Given the description of an element on the screen output the (x, y) to click on. 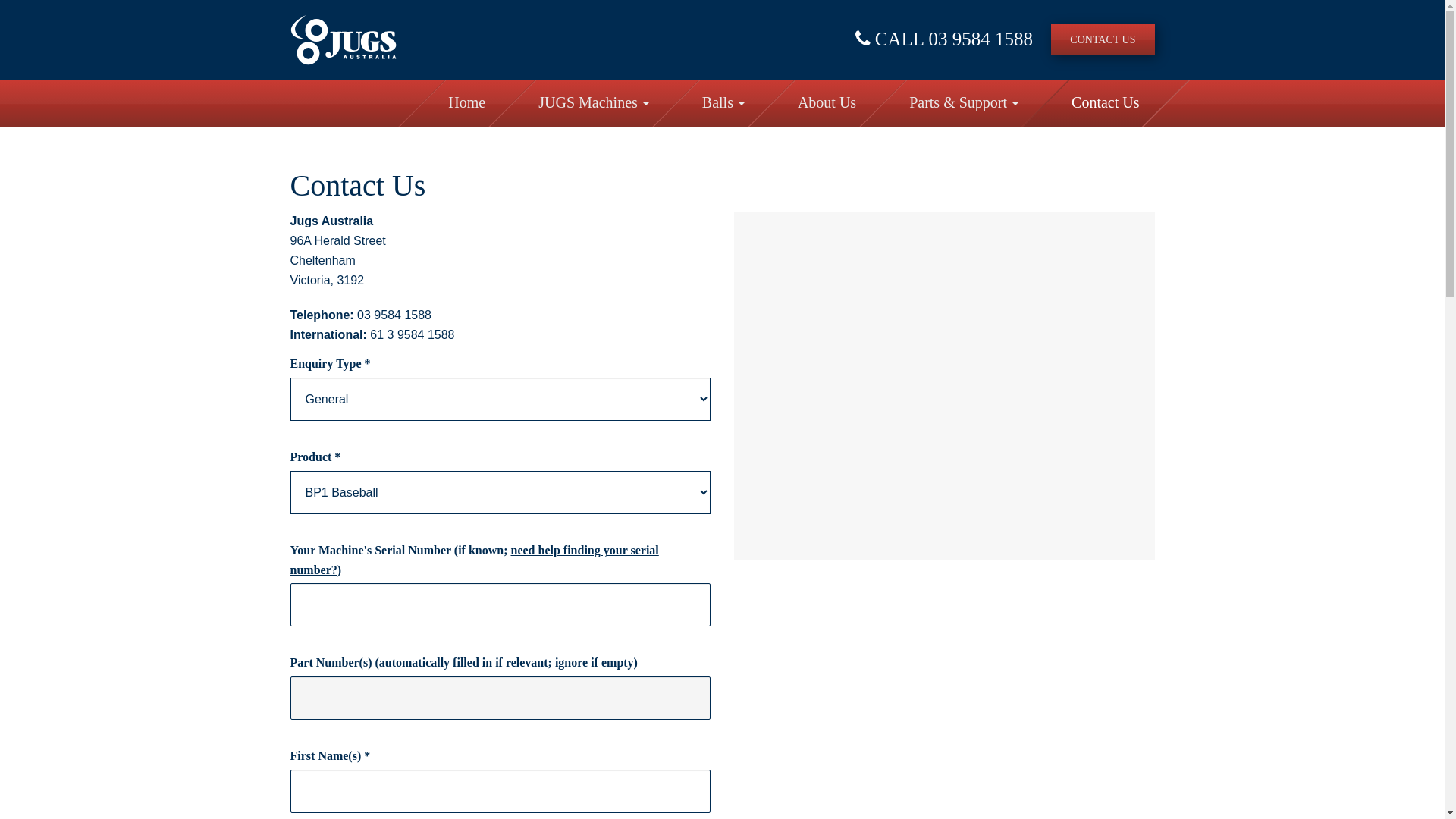
CONTACT US Element type: text (1102, 39)
JUGS Australia Element type: text (342, 39)
About Us Element type: text (826, 103)
Balls Element type: text (723, 103)
need help finding your serial number? Element type: text (473, 559)
CALL 03 9584 1588 Element type: text (943, 38)
Contact Us Element type: text (1104, 103)
JUGS Machines Element type: text (593, 103)
Parts & Support Element type: text (963, 103)
Home Element type: text (466, 103)
